Given the description of an element on the screen output the (x, y) to click on. 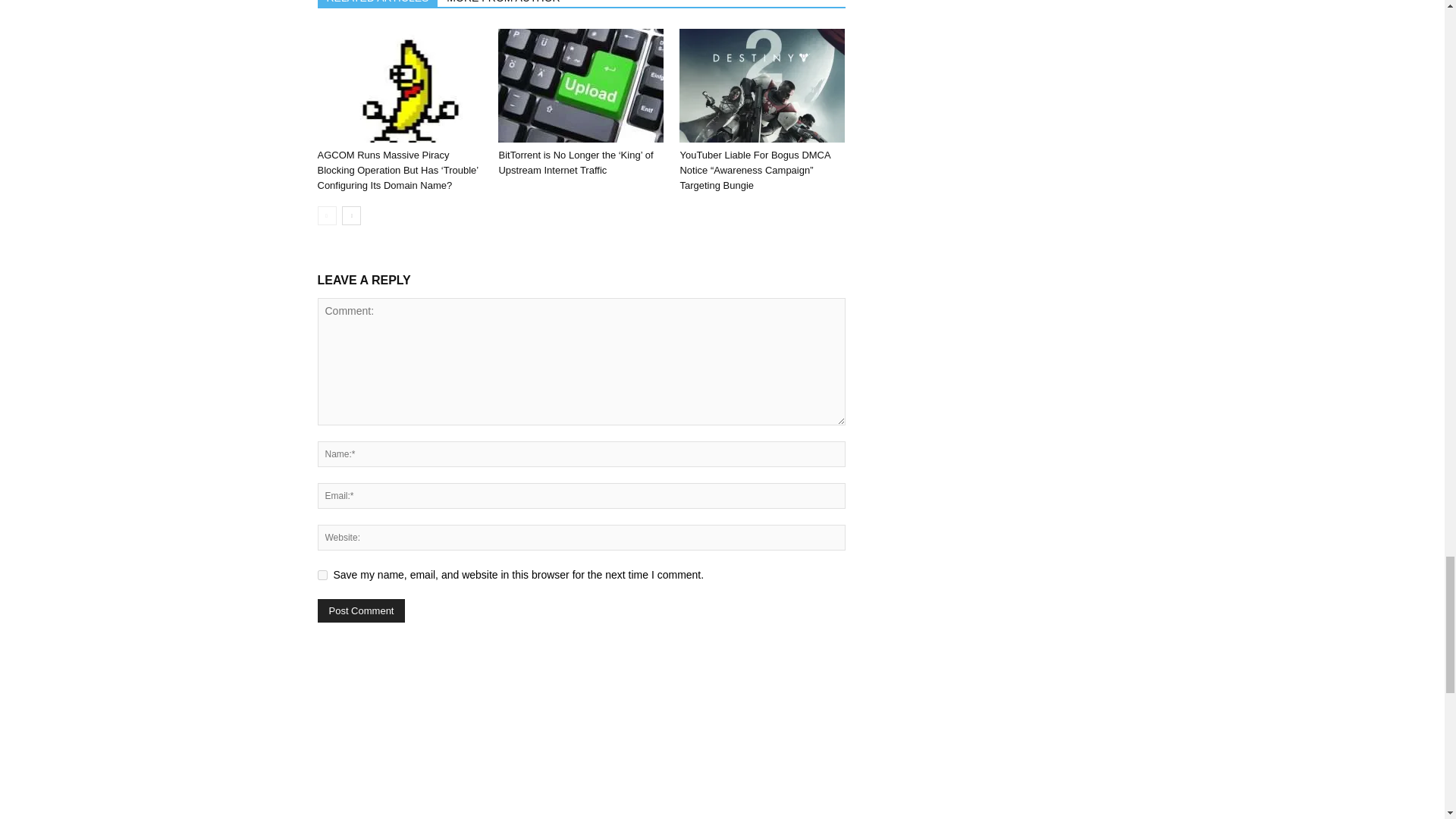
Post Comment (360, 610)
yes (321, 574)
